Given the description of an element on the screen output the (x, y) to click on. 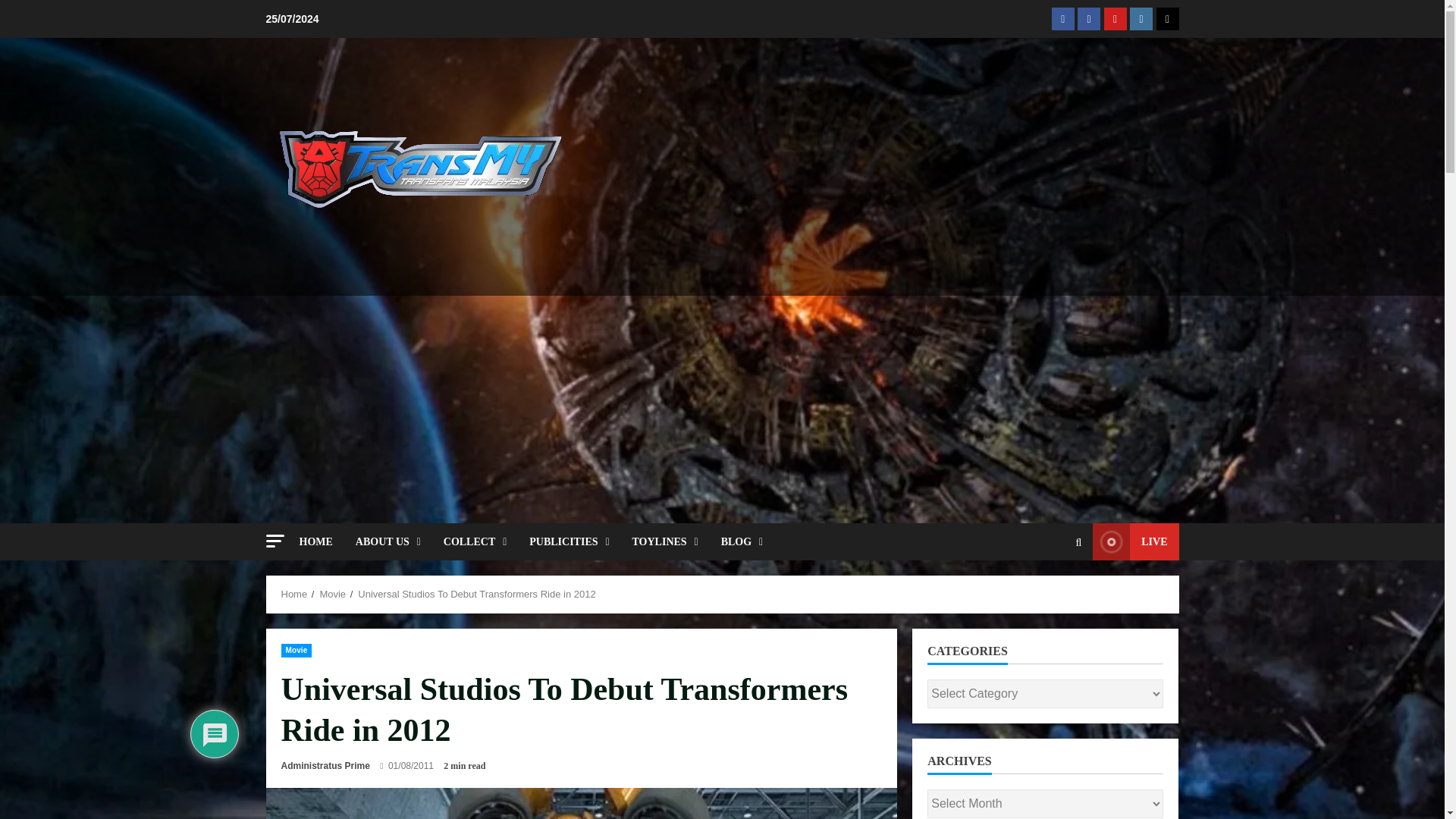
COLLECT (475, 541)
HOME (320, 541)
Search (1078, 541)
ABOUT US (387, 541)
